Given the description of an element on the screen output the (x, y) to click on. 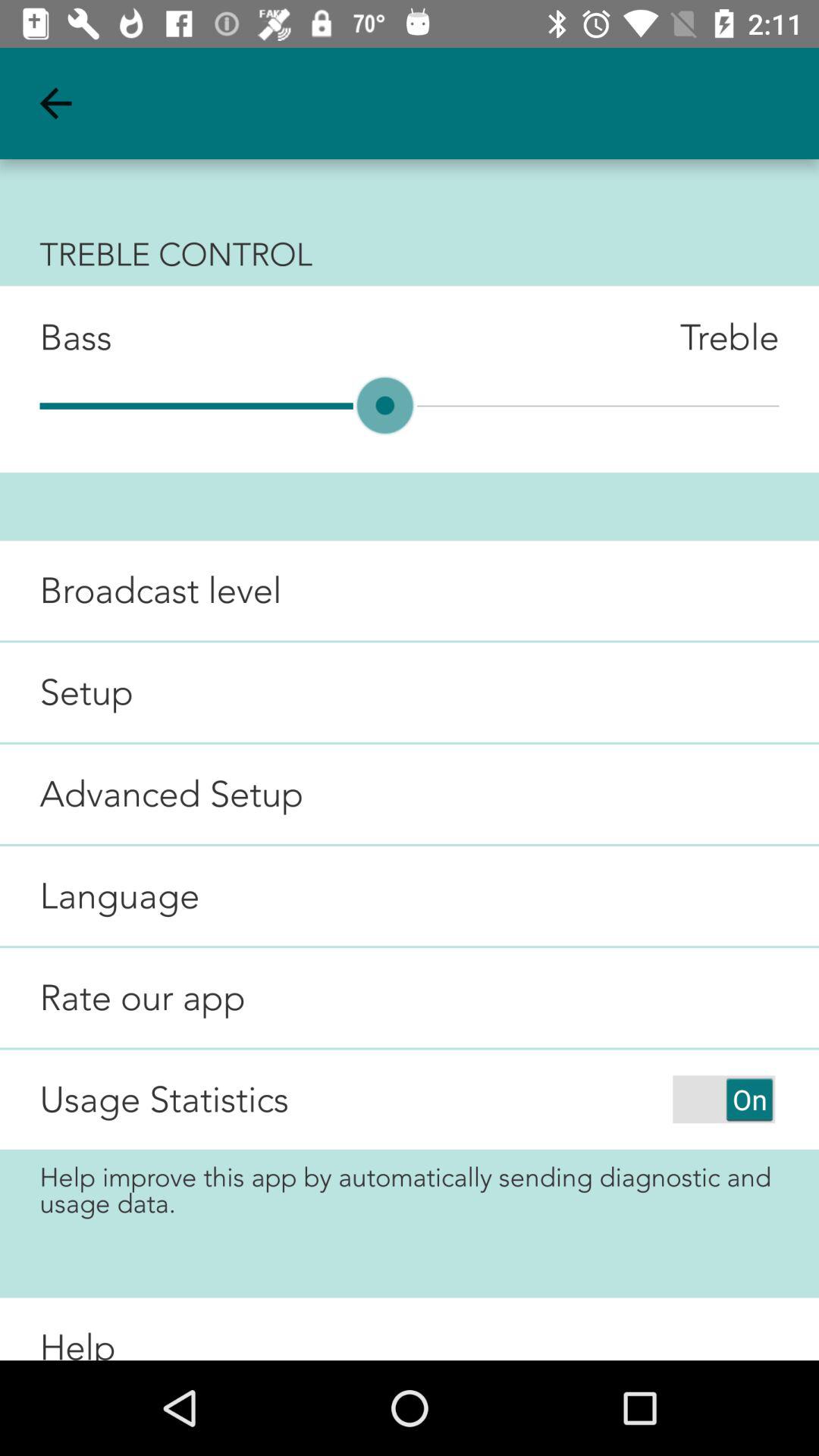
tap the icon above help improve this icon (723, 1099)
